Given the description of an element on the screen output the (x, y) to click on. 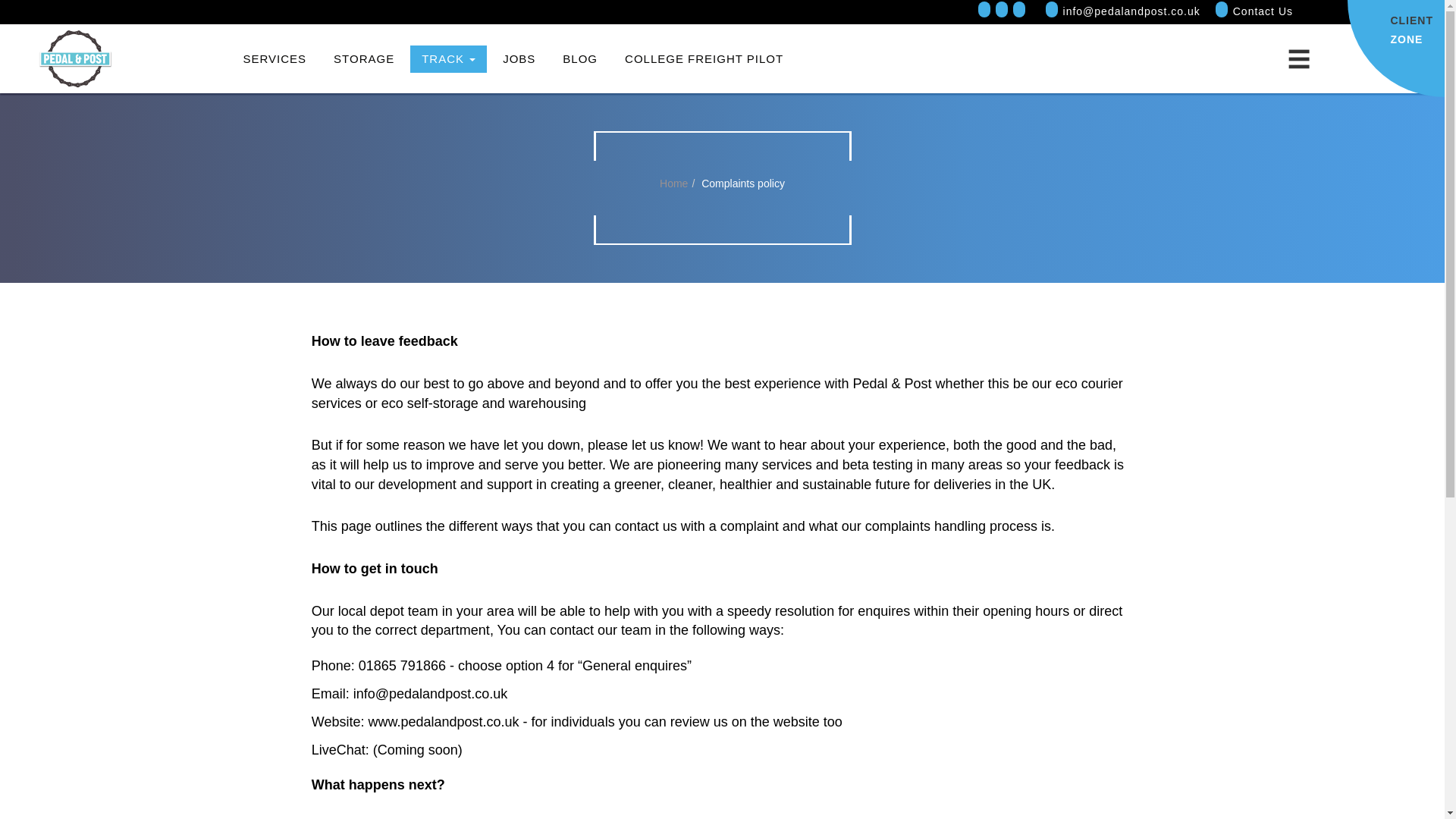
BLOG (579, 58)
COLLEGE FREIGHT PILOT (703, 58)
SERVICES (274, 58)
TRACK (448, 58)
JOBS (1411, 27)
STORAGE (519, 58)
Home (363, 58)
Contact Us (673, 183)
